Given the description of an element on the screen output the (x, y) to click on. 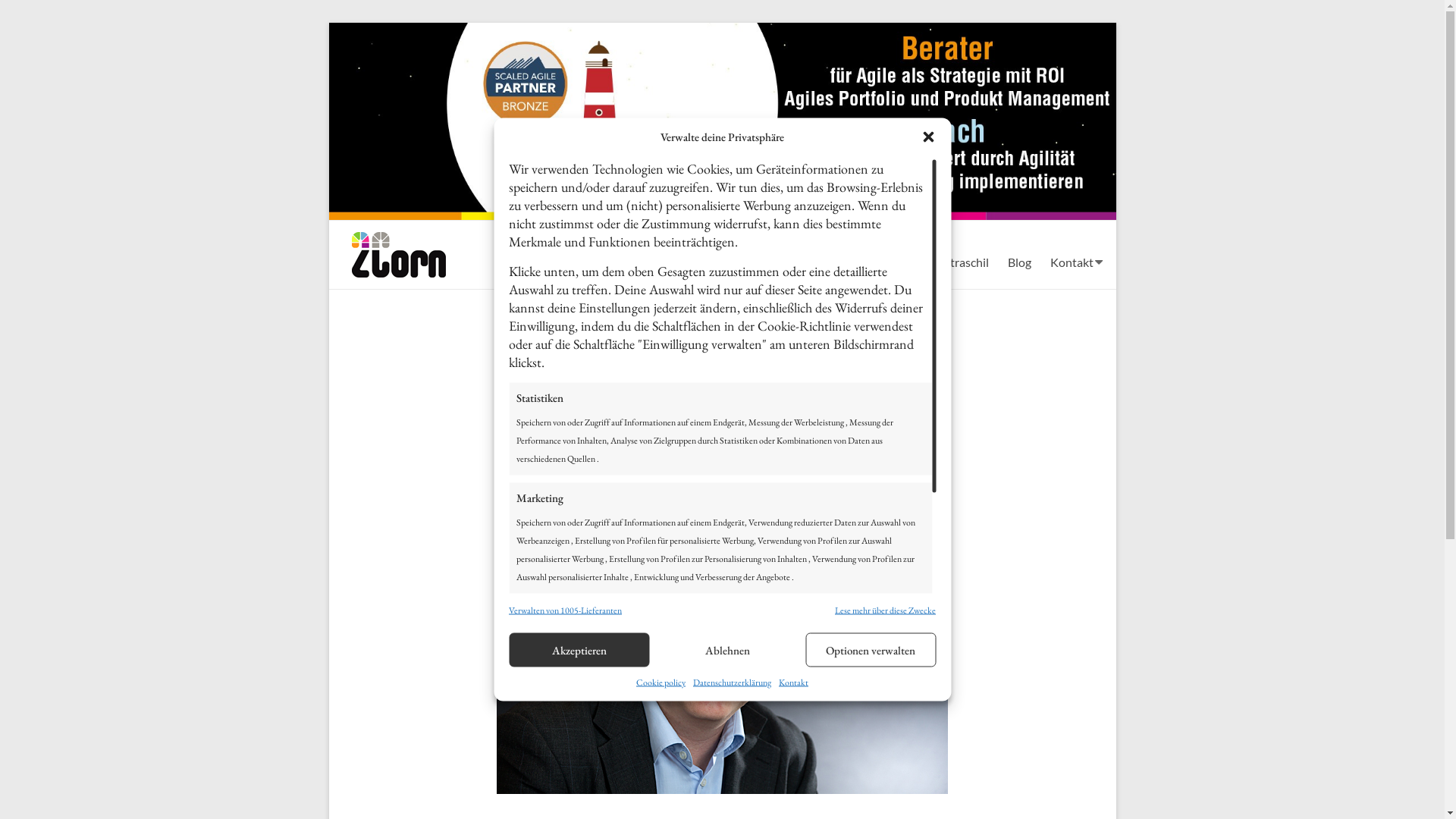
Blog Element type: text (1018, 261)
Kontakt Element type: text (1070, 261)
Ablehnen Element type: text (727, 649)
Verwalten von 1005-Lieferanten Element type: text (564, 609)
Skip to content Element type: text (327, 21)
Optionen verwalten Element type: text (870, 649)
2Corn Element type: hover (722, 29)
Home Element type: text (883, 261)
Cookie policy Element type: text (660, 682)
Axel Straschil Element type: text (952, 261)
2Corn Element type: text (385, 251)
Kontakt Element type: text (793, 682)
Akzeptieren Element type: text (578, 649)
